Given the description of an element on the screen output the (x, y) to click on. 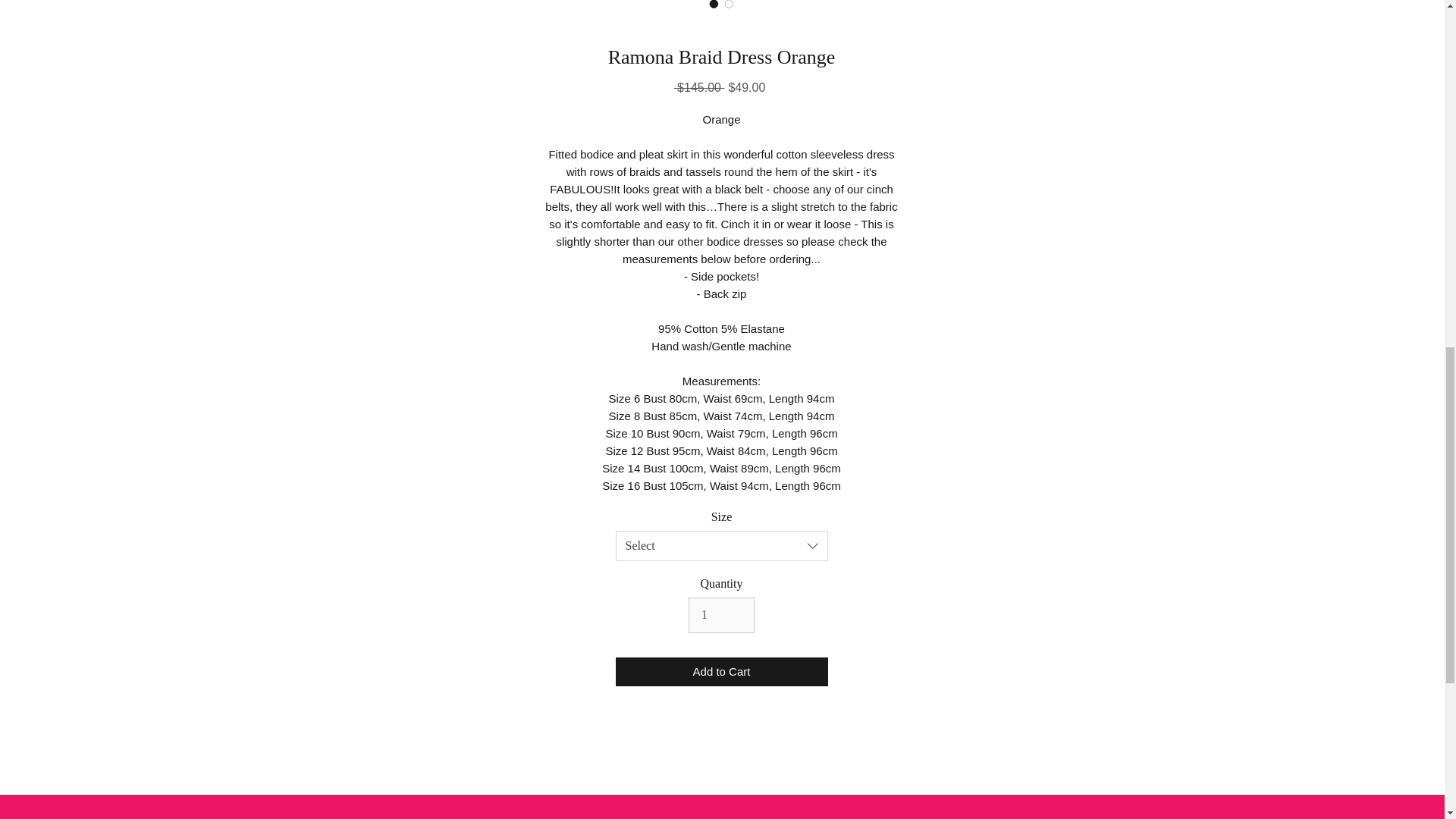
Add to Cart (721, 672)
Select (721, 545)
1 (721, 614)
